Given the description of an element on the screen output the (x, y) to click on. 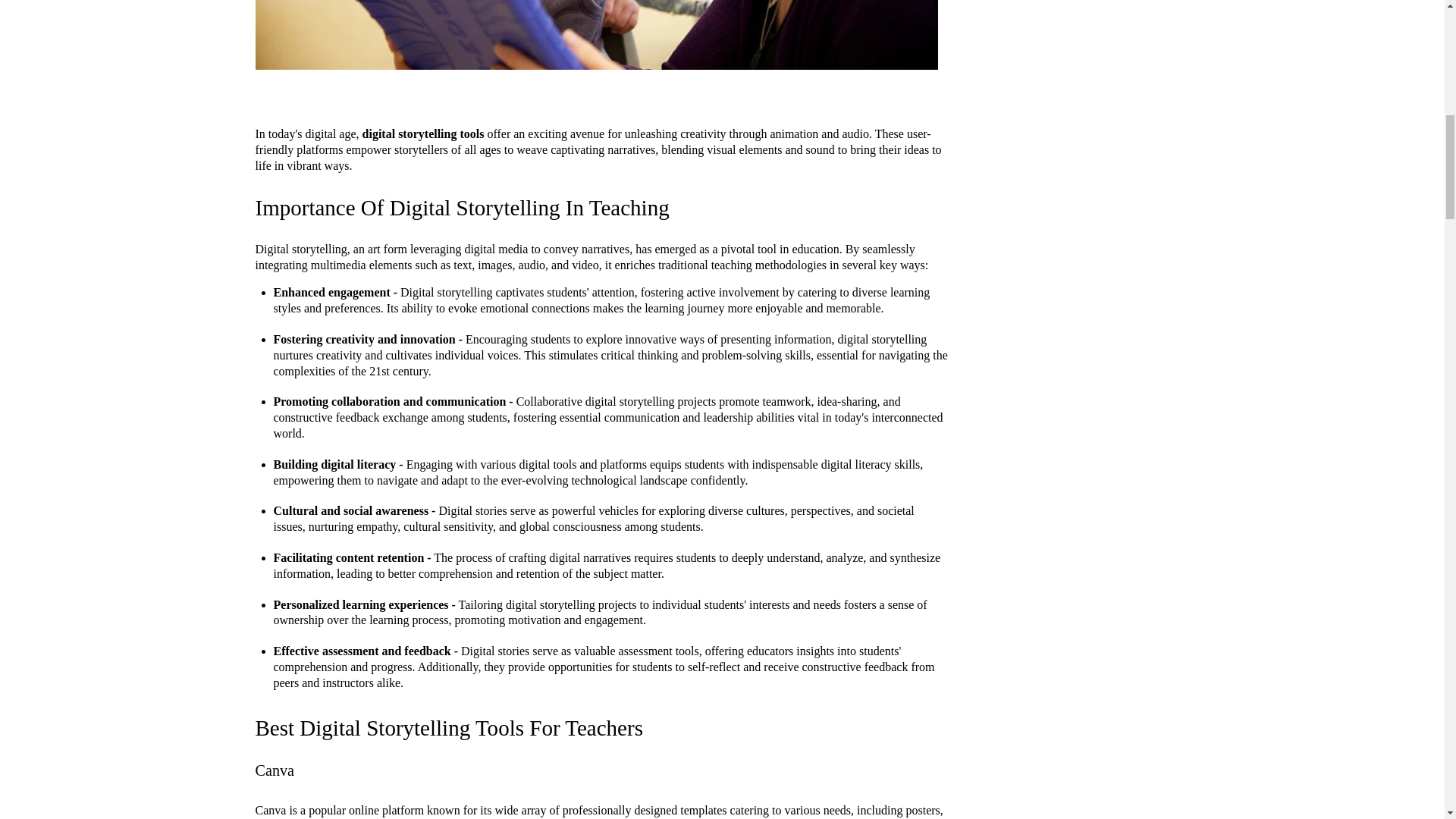
Canva (274, 770)
Importance Of Digital Storytelling In Teaching (461, 207)
Best Digital Storytelling Tools For Teachers (448, 727)
